Given the description of an element on the screen output the (x, y) to click on. 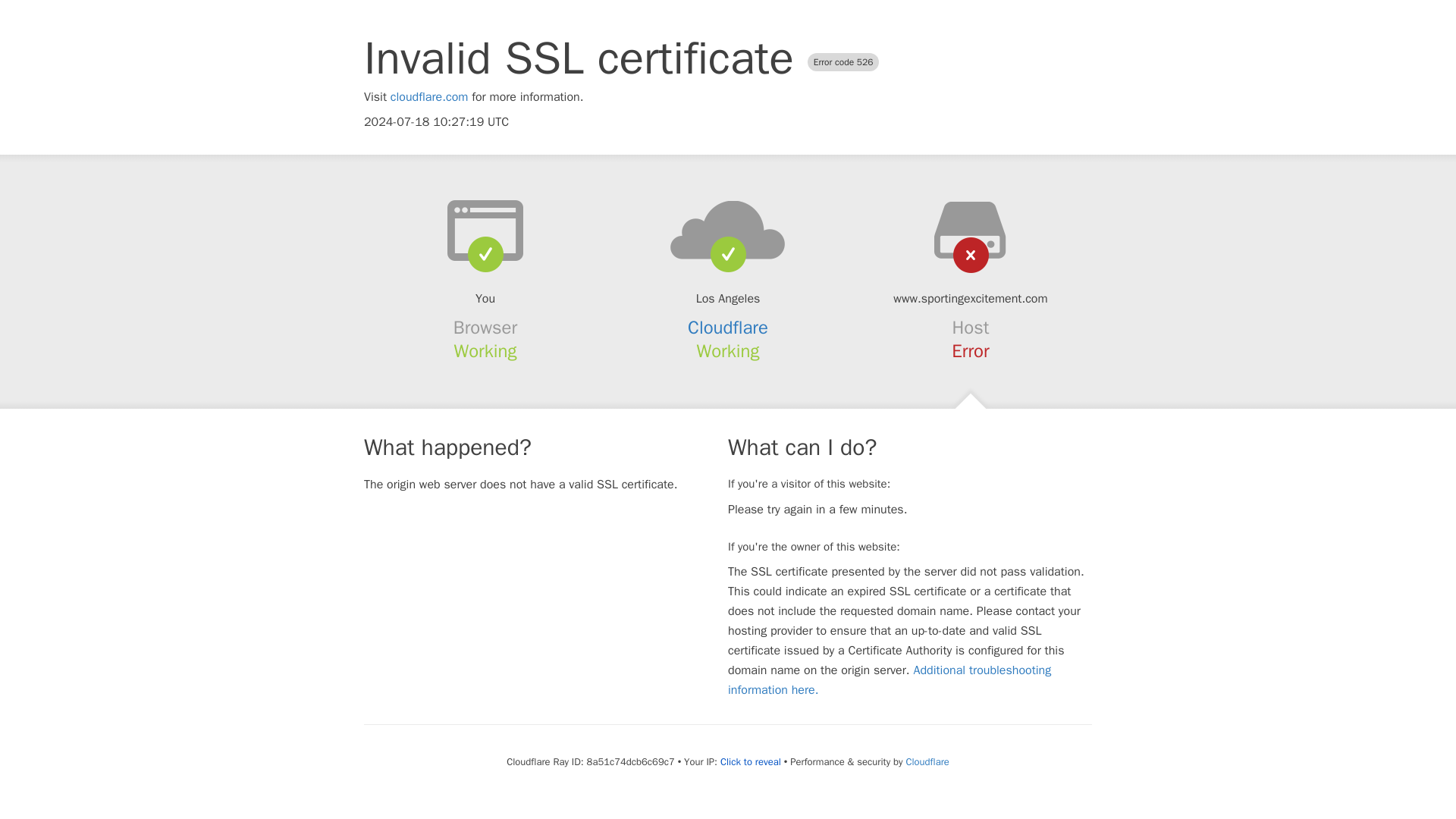
Cloudflare (727, 327)
Additional troubleshooting information here. (889, 679)
Click to reveal (750, 762)
cloudflare.com (429, 96)
Cloudflare (927, 761)
